Given the description of an element on the screen output the (x, y) to click on. 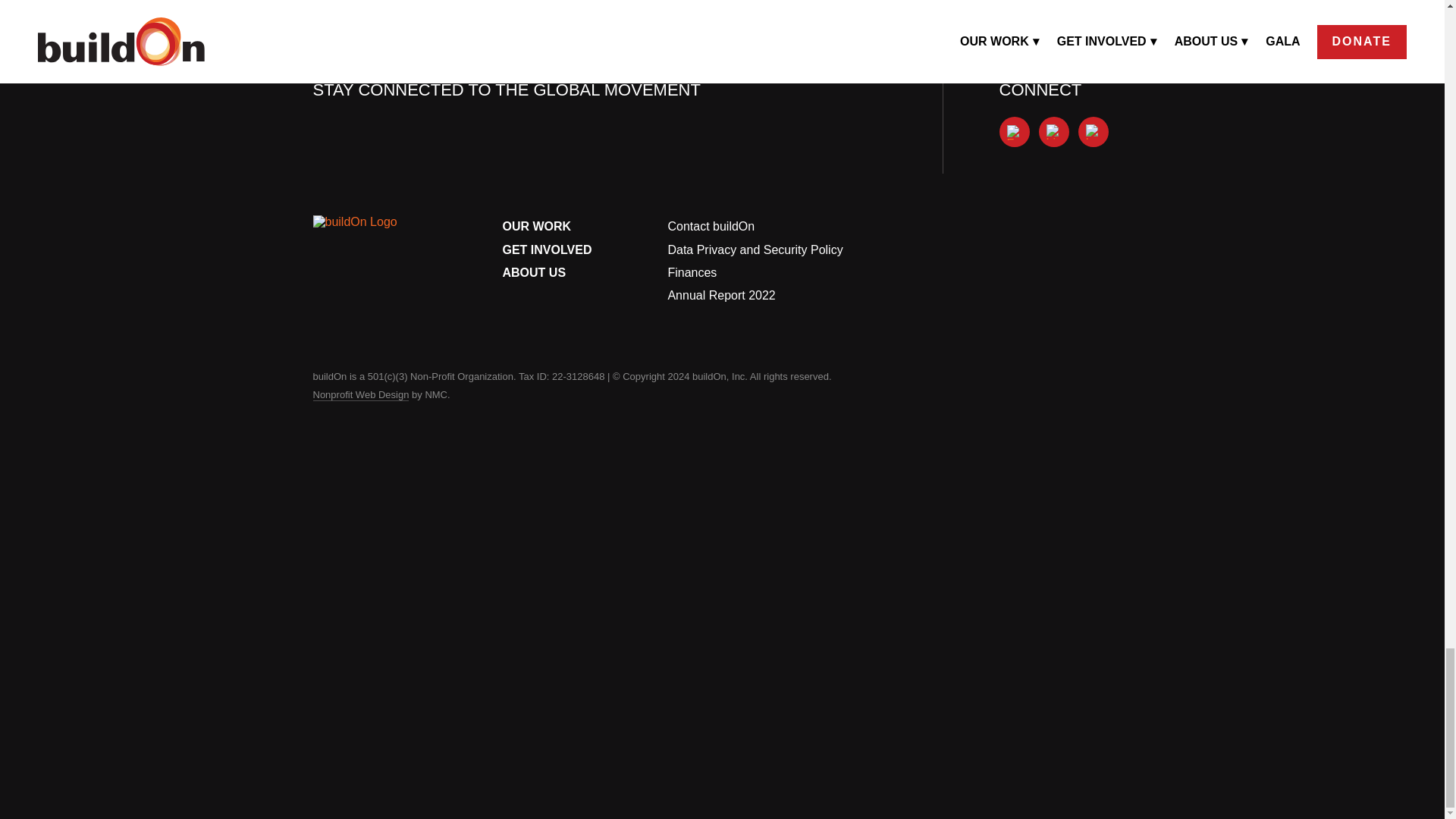
homepage (369, 231)
Sign Up Form (581, 173)
